Given the description of an element on the screen output the (x, y) to click on. 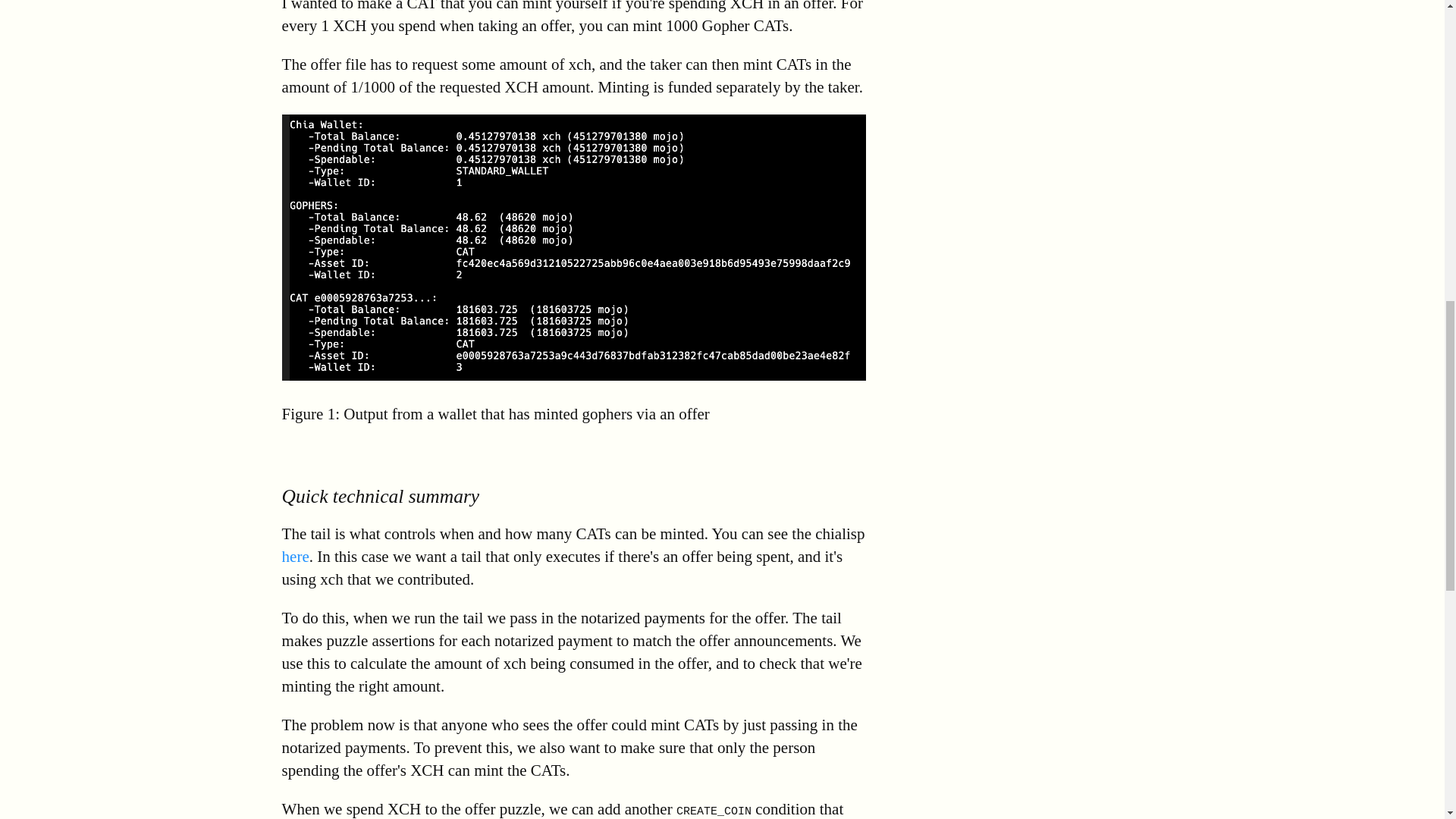
here (295, 556)
